Given the description of an element on the screen output the (x, y) to click on. 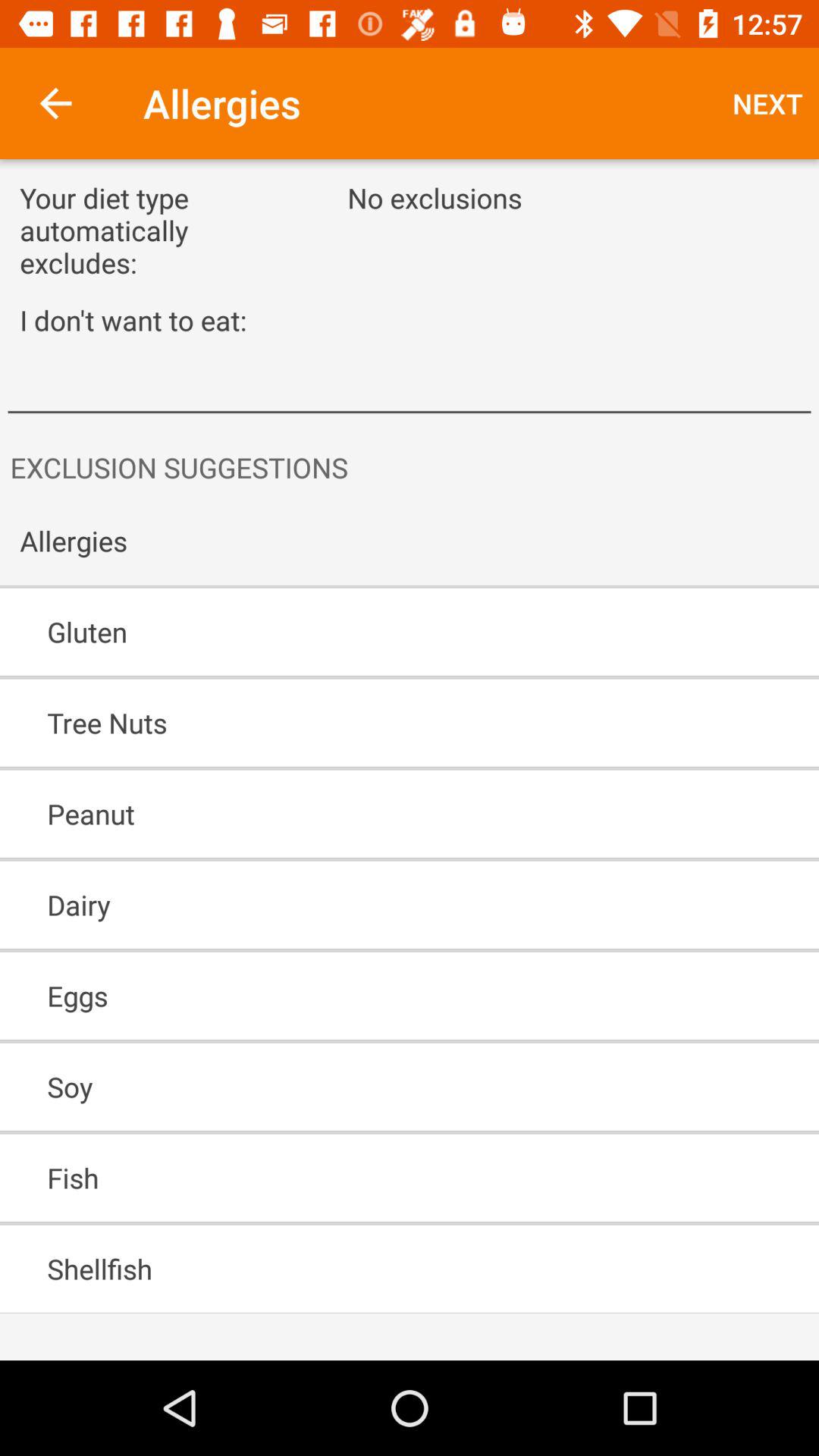
open icon above     soy icon (365, 995)
